Given the description of an element on the screen output the (x, y) to click on. 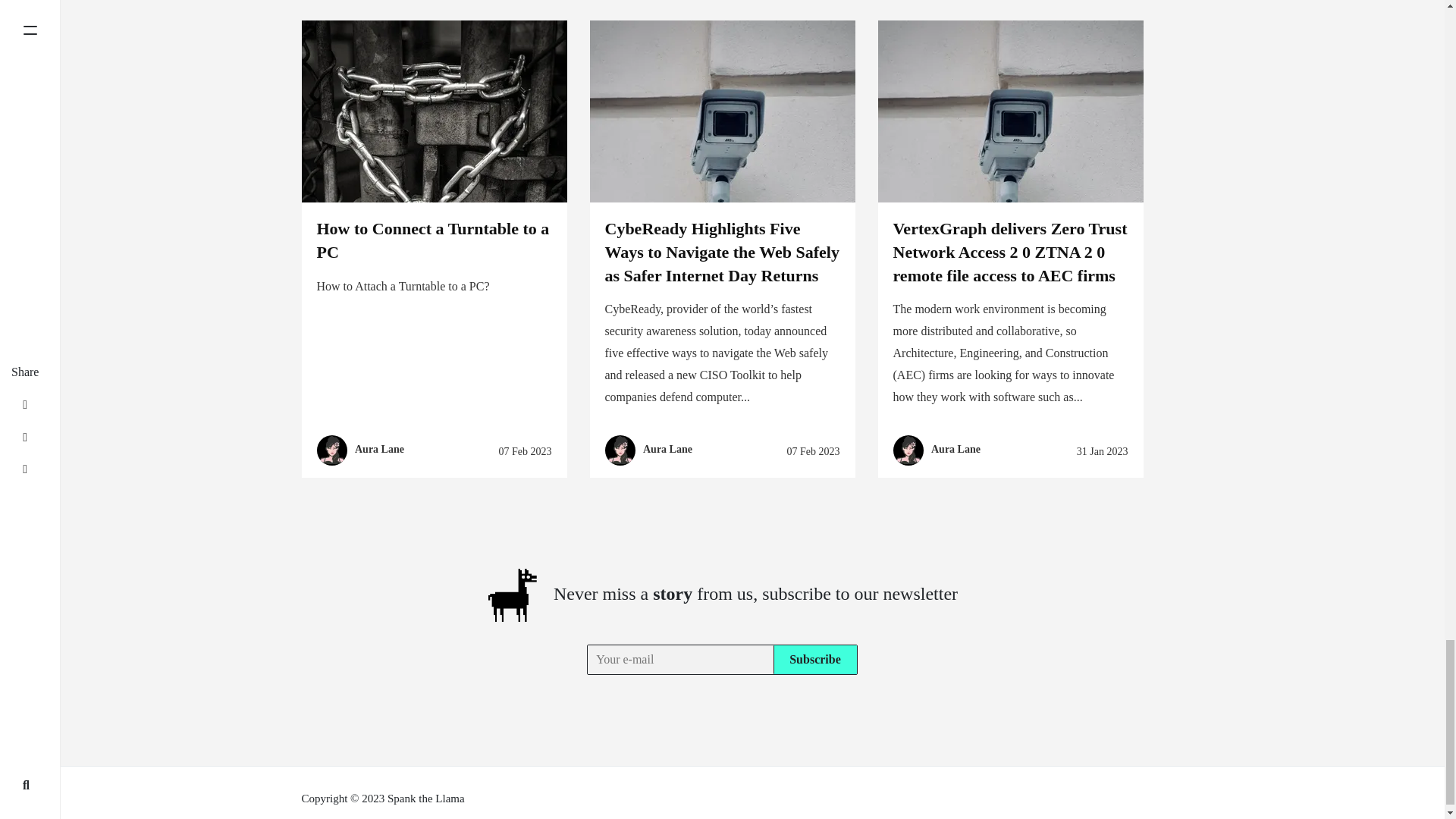
Subscribe (815, 659)
Subscribe (815, 659)
How to Connect a Turntable to a PC (433, 240)
Aura Lane (668, 449)
Aura Lane (955, 449)
Aura Lane (379, 449)
